Given the description of an element on the screen output the (x, y) to click on. 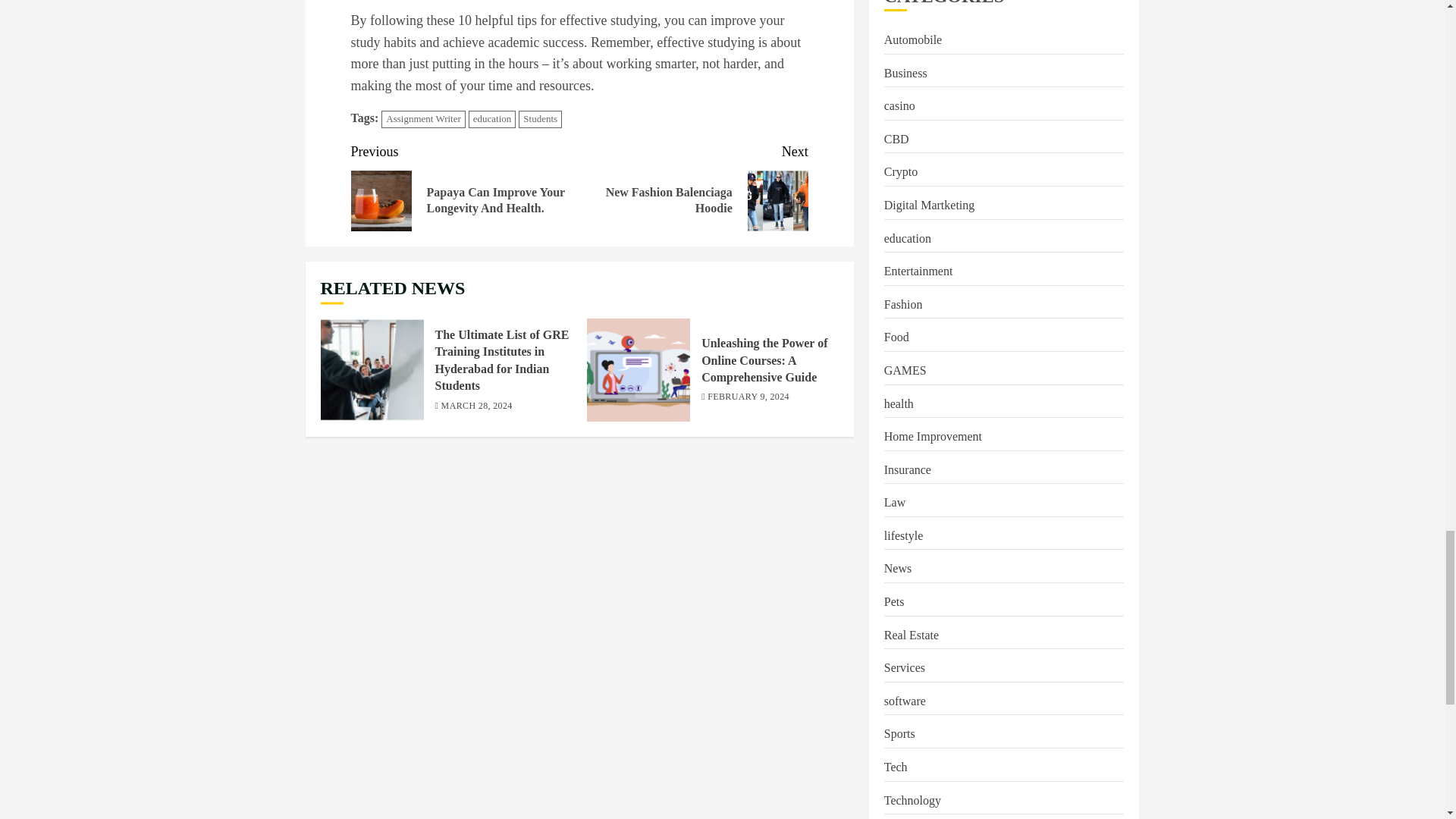
Assignment Writer (423, 118)
Students (540, 118)
education (693, 185)
